Given the description of an element on the screen output the (x, y) to click on. 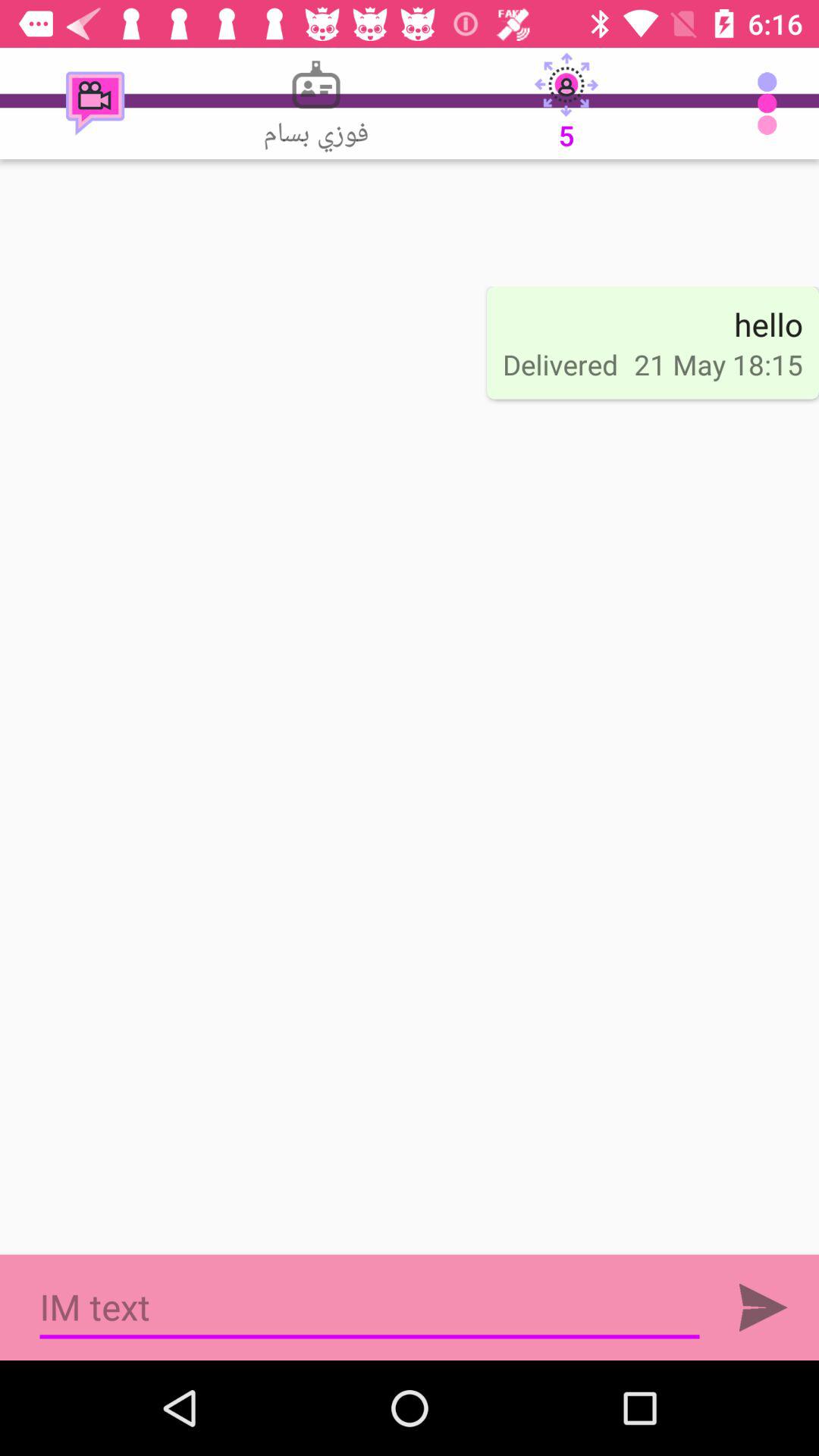
select the 5 icon (566, 103)
